Given the description of an element on the screen output the (x, y) to click on. 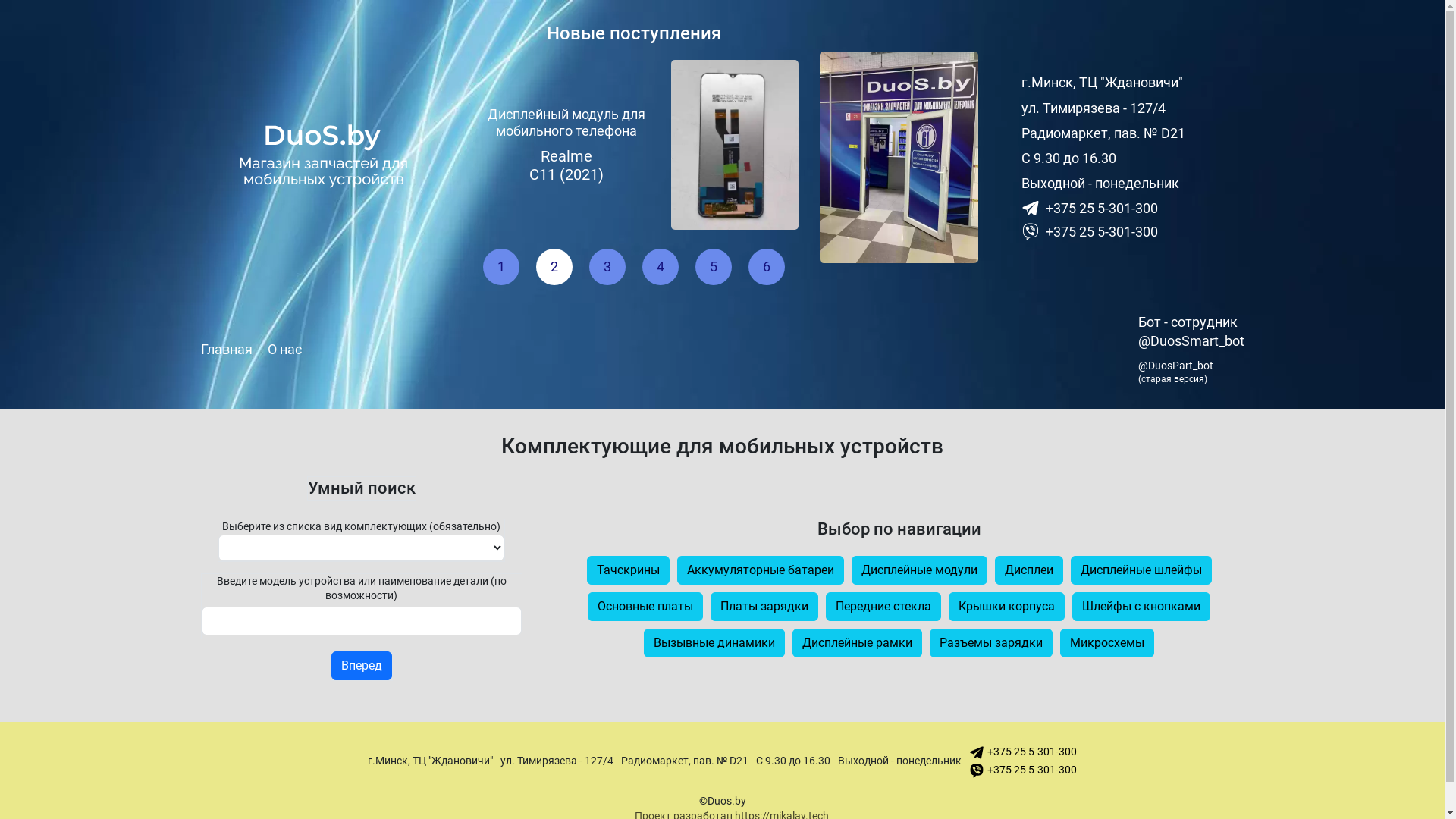
2 Element type: text (554, 266)
3 Element type: text (607, 266)
@DuosSmart_bot Element type: text (1190, 340)
+375 25 5-301-300 Element type: text (1132, 207)
+375 25 5-301-300 Element type: text (1132, 231)
+375 25 5-301-300 Element type: text (1022, 770)
1 Element type: text (501, 266)
6 Element type: text (766, 266)
4 Element type: text (660, 266)
5 Element type: text (713, 266)
+375 25 5-301-300 Element type: text (1022, 751)
